Given the description of an element on the screen output the (x, y) to click on. 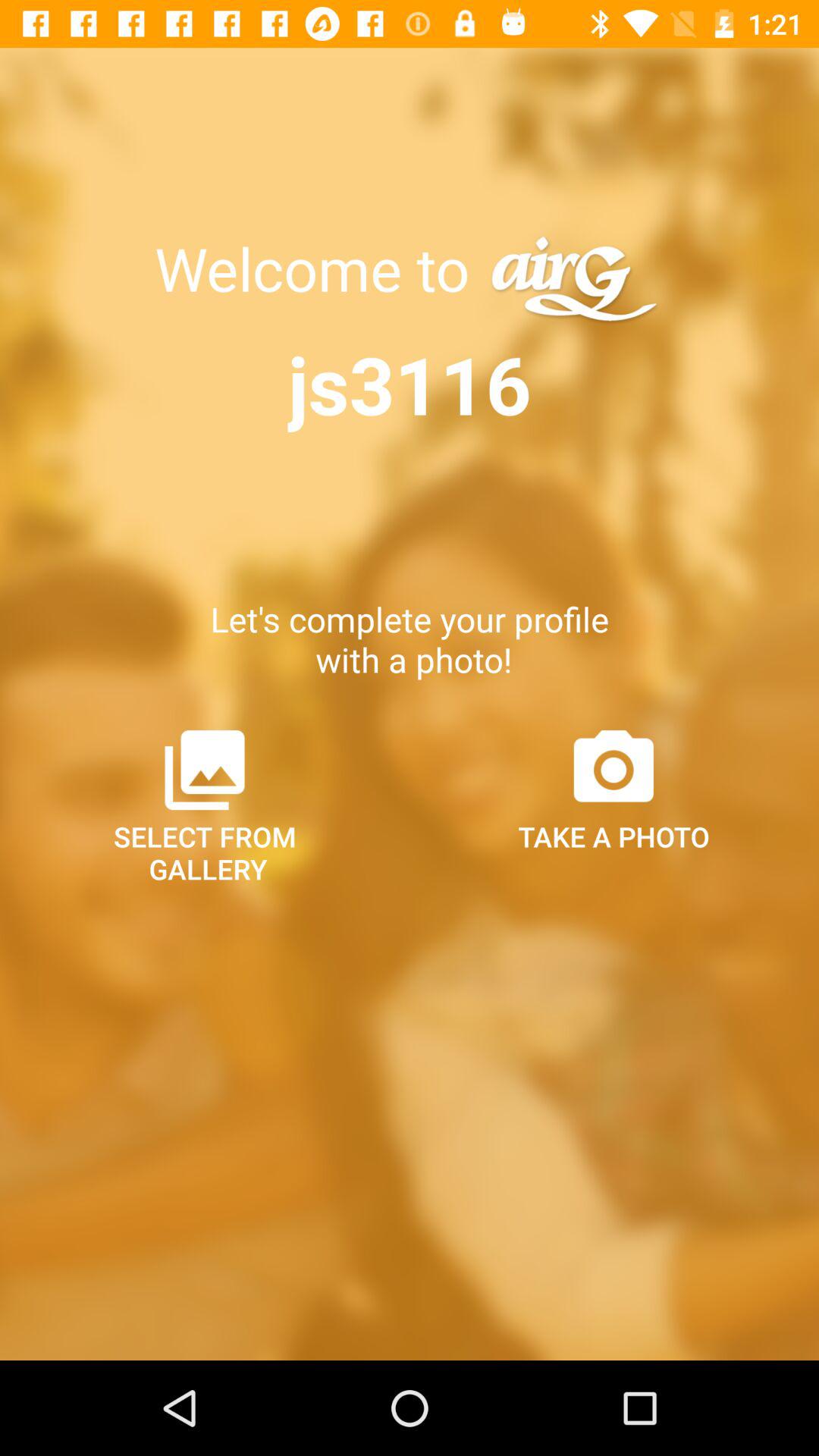
open icon next to take a photo (204, 804)
